Given the description of an element on the screen output the (x, y) to click on. 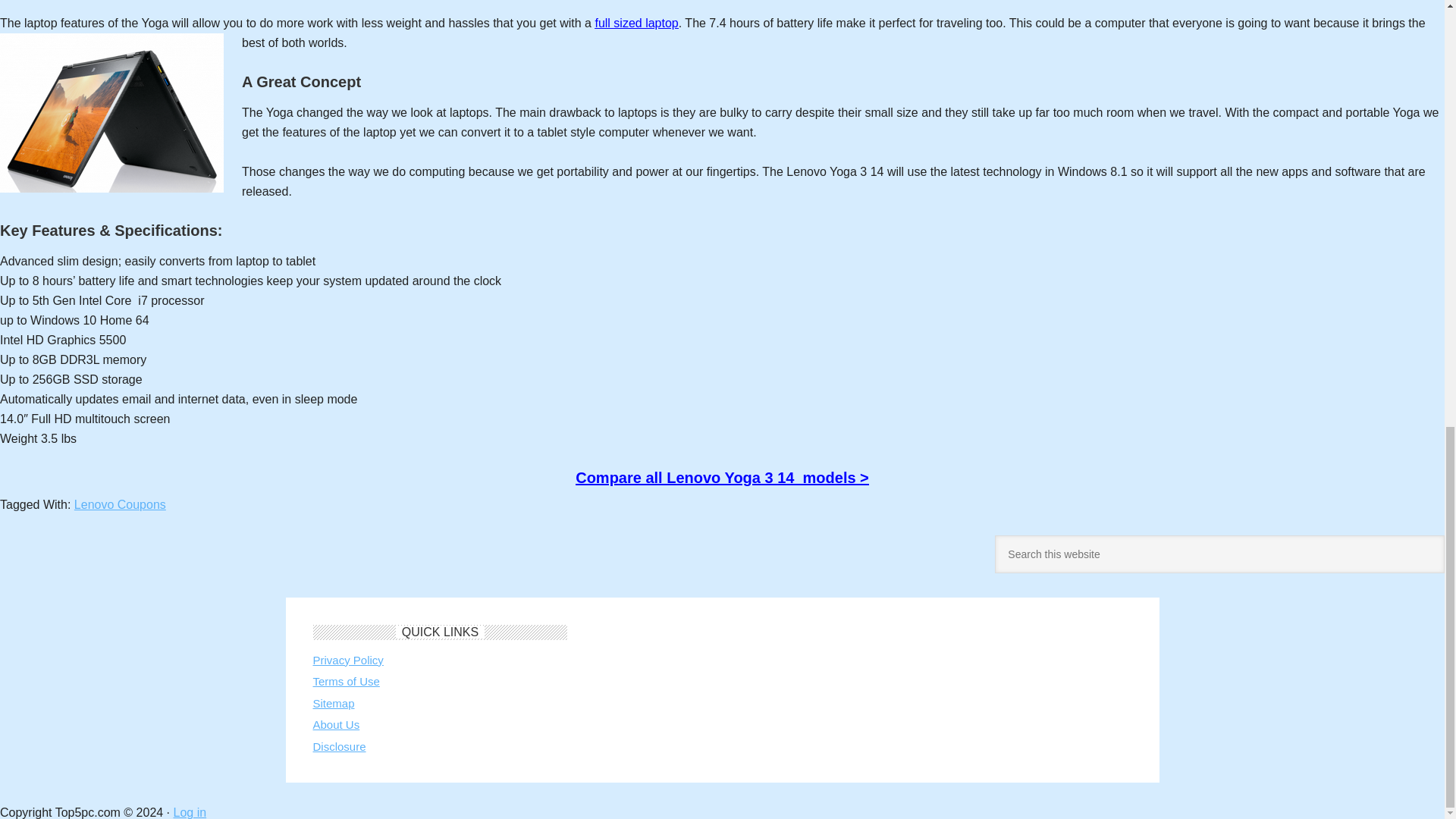
full sized laptop (636, 22)
Lenovo Coupons (119, 504)
Privacy Policy (347, 659)
About Us (336, 724)
Disclosure (339, 746)
Terms of Use (345, 680)
Sitemap (333, 703)
